Given the description of an element on the screen output the (x, y) to click on. 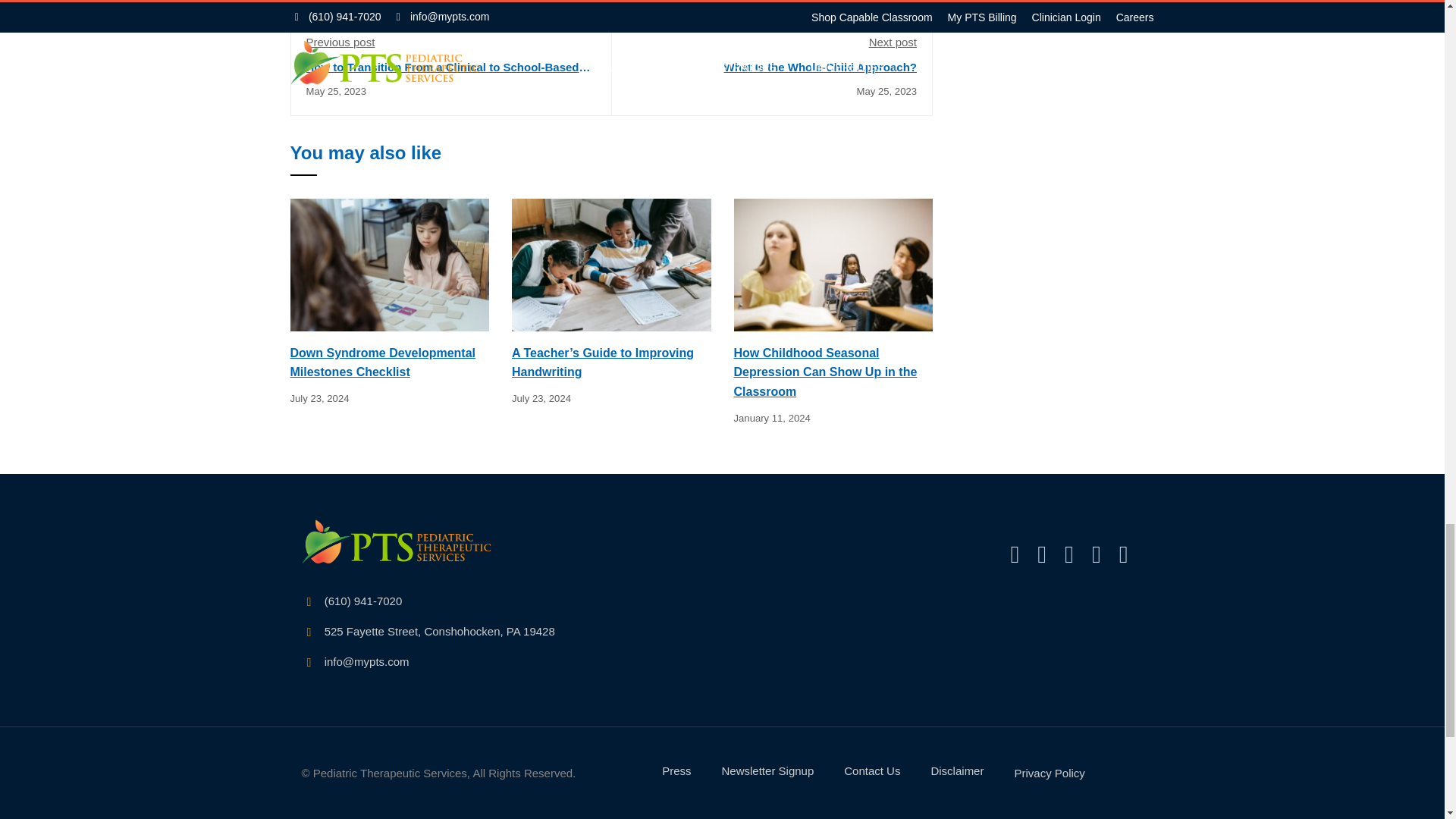
Child depression (833, 265)
pexels-nicola-barts-7943259 (389, 265)
Down Syndrome Developmental Milestones Checklist (389, 263)
pexels-katerina-holmes-5905492 (611, 265)
